Given the description of an element on the screen output the (x, y) to click on. 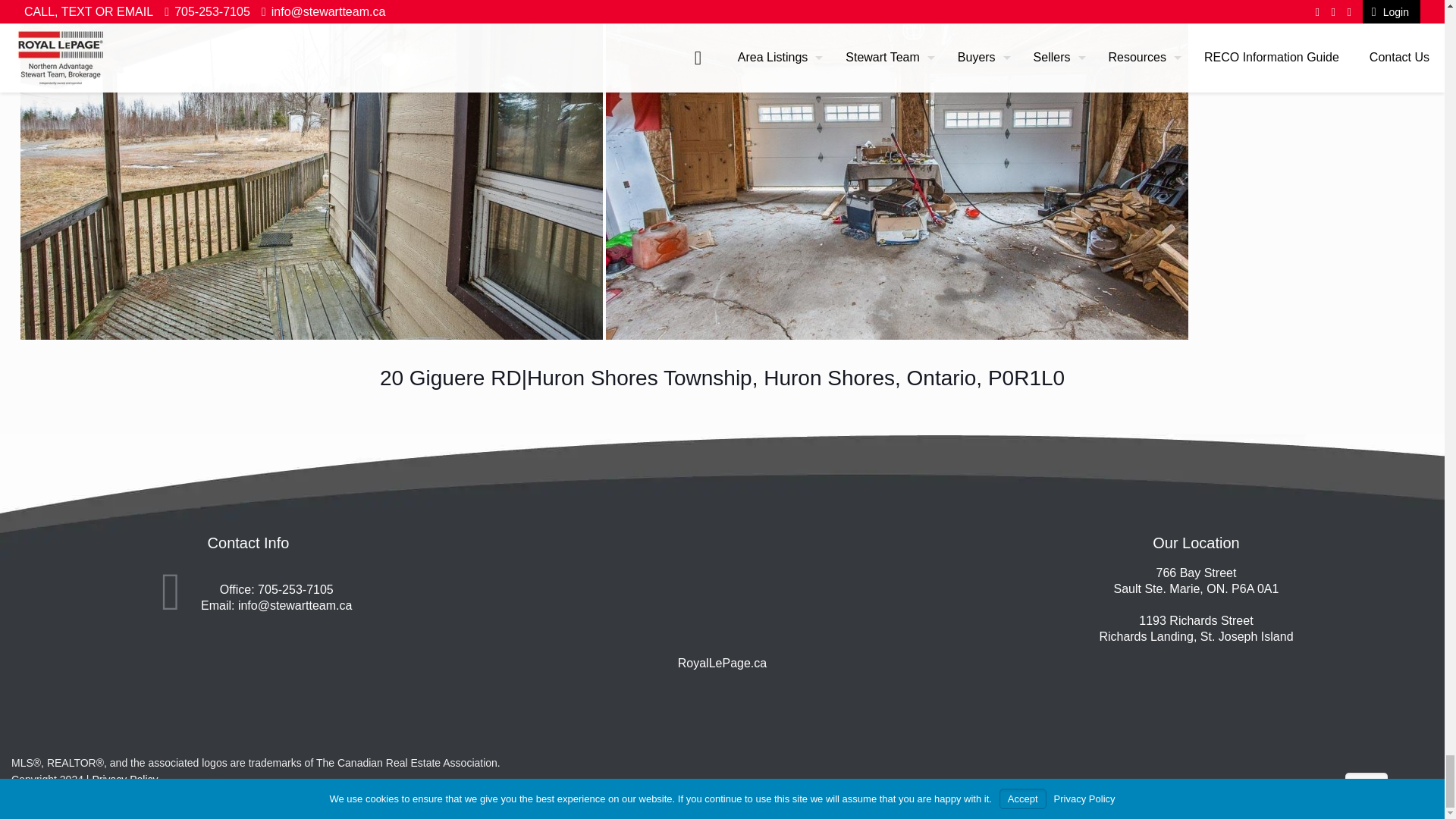
View Privacy Policy (124, 779)
YourOnlineAgents - YOAPress (92, 795)
